Given the description of an element on the screen output the (x, y) to click on. 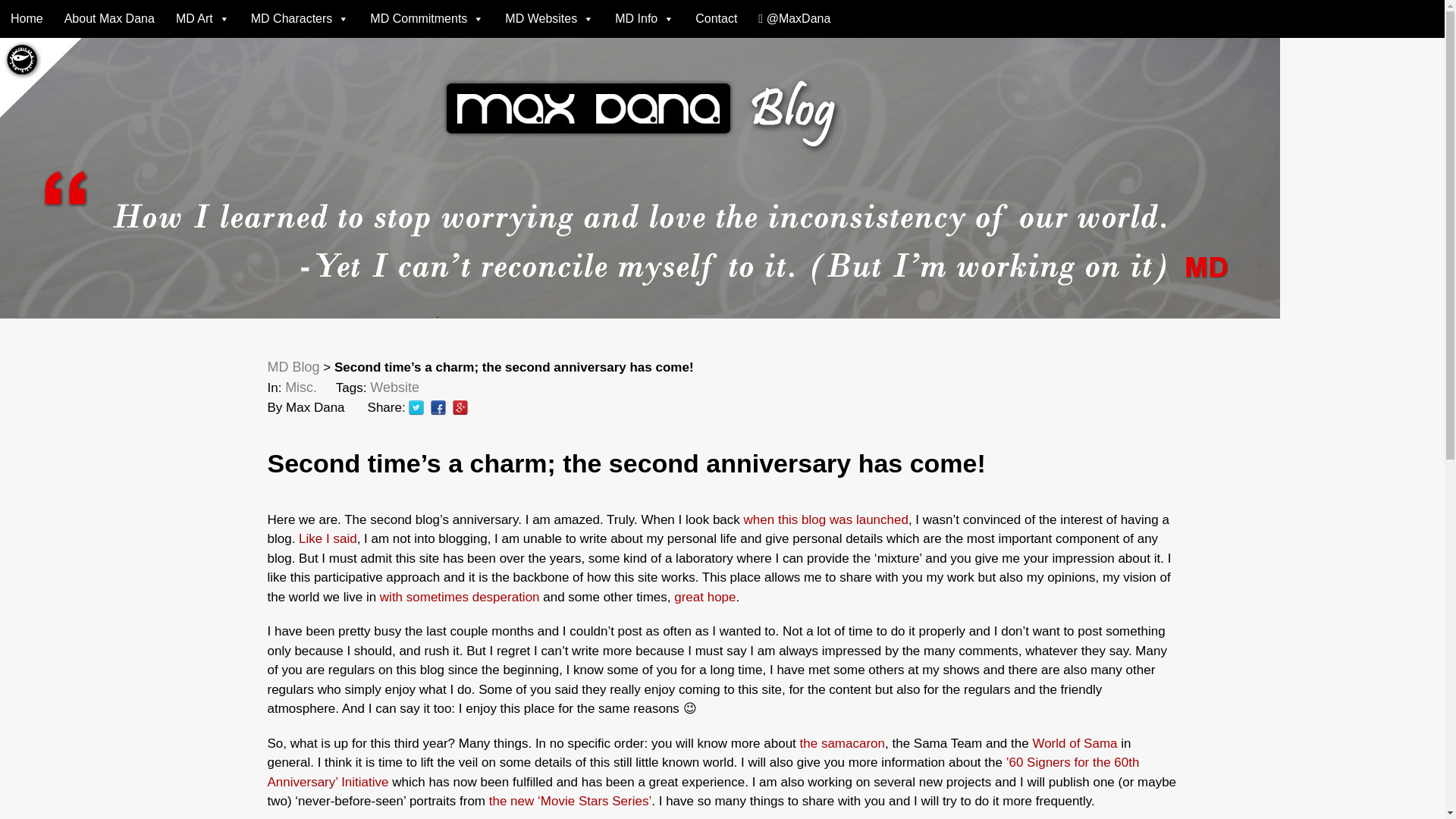
Website (394, 387)
great hope (704, 596)
MD Art (202, 18)
About Max Dana (109, 18)
Contact (716, 18)
MD Info (644, 18)
the samacaron (842, 742)
MD Characters (299, 18)
MD Blog (292, 366)
About Max Dana (109, 18)
MD Commitments (427, 18)
Home (26, 18)
Like I said (327, 538)
Home (26, 18)
Misc. (301, 387)
